Given the description of an element on the screen output the (x, y) to click on. 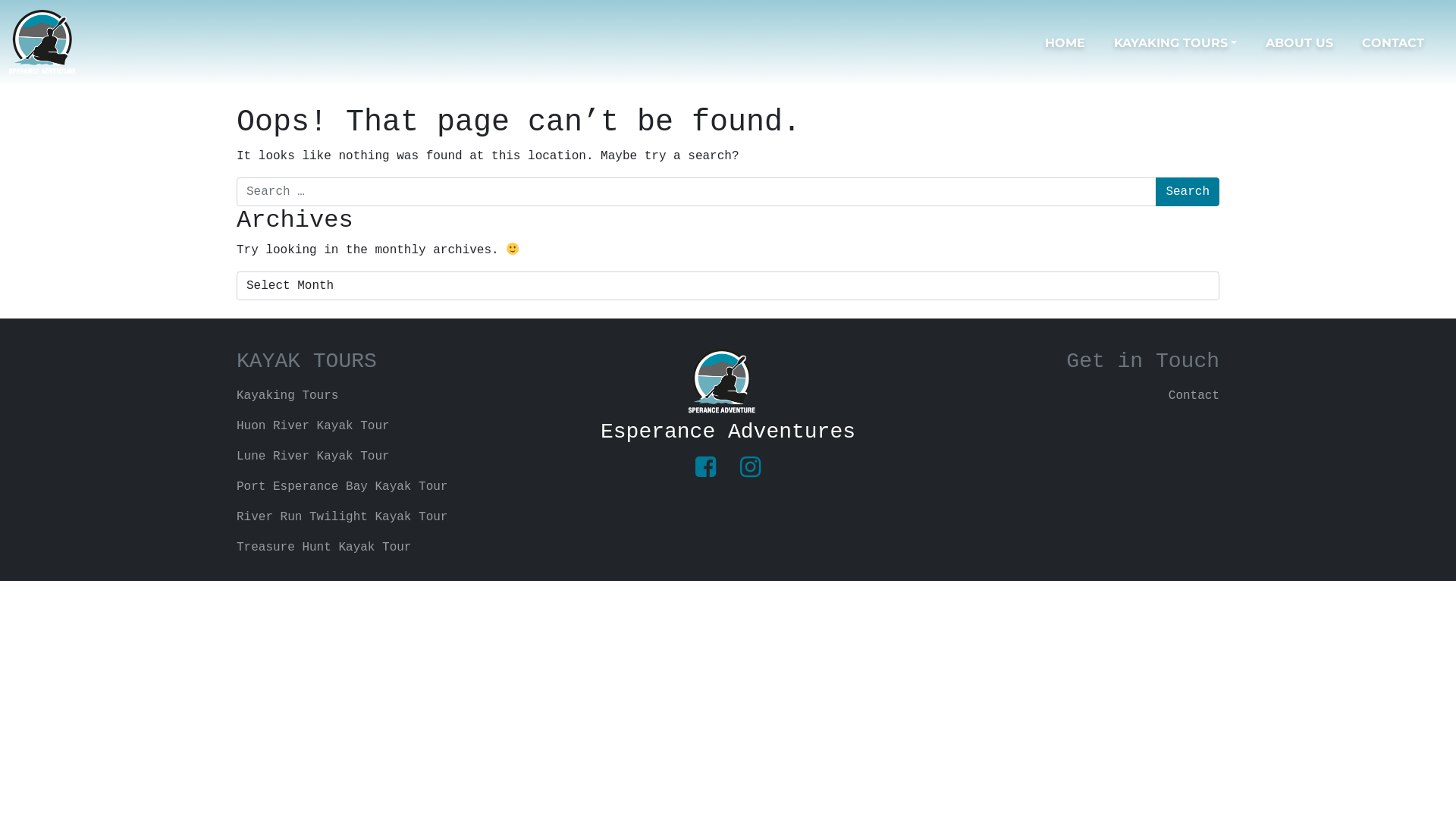
Lune River Kayak Tour Element type: text (394, 456)
Search Element type: text (1187, 191)
Esperance Adventures Element type: text (727, 431)
HOME Element type: text (1072, 43)
Contact Element type: text (1061, 395)
Treasure Hunt Kayak Tour Element type: text (394, 547)
KAYAKING TOURS Element type: text (1183, 43)
Huon River Kayak Tour Element type: text (394, 426)
River Run Twilight Kayak Tour Element type: text (394, 517)
Port Esperance Bay Kayak Tour Element type: text (394, 486)
ABOUT US Element type: text (1307, 43)
CONTACT Element type: text (1400, 43)
Kayaking Tours Element type: text (394, 395)
